Given the description of an element on the screen output the (x, y) to click on. 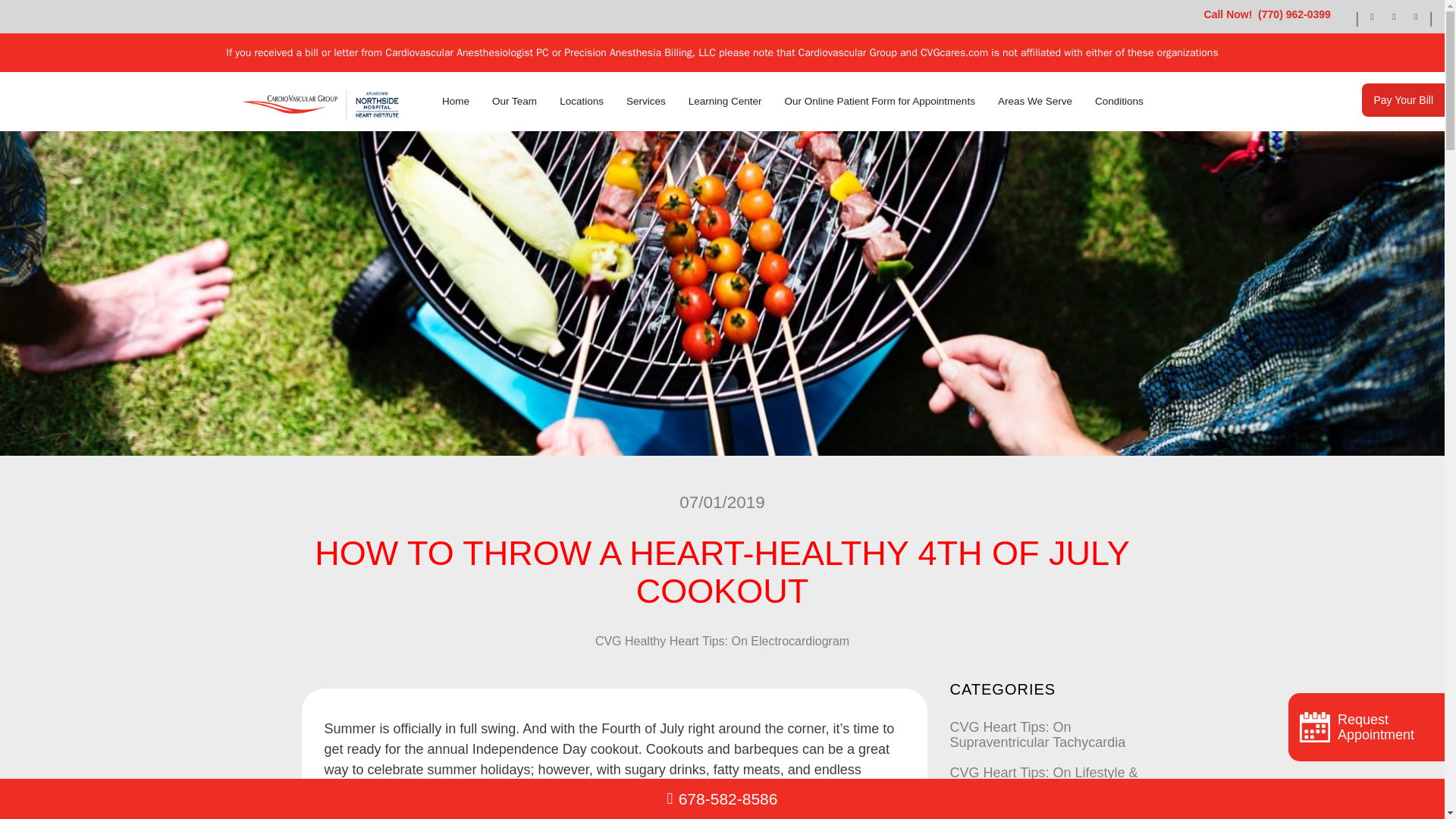
Services (645, 101)
Locations (582, 101)
Our Team (514, 101)
Our Online Patient Form for Appointments (878, 101)
Areas We Serve (1034, 101)
Home (456, 101)
Learning Center (724, 101)
